Given the description of an element on the screen output the (x, y) to click on. 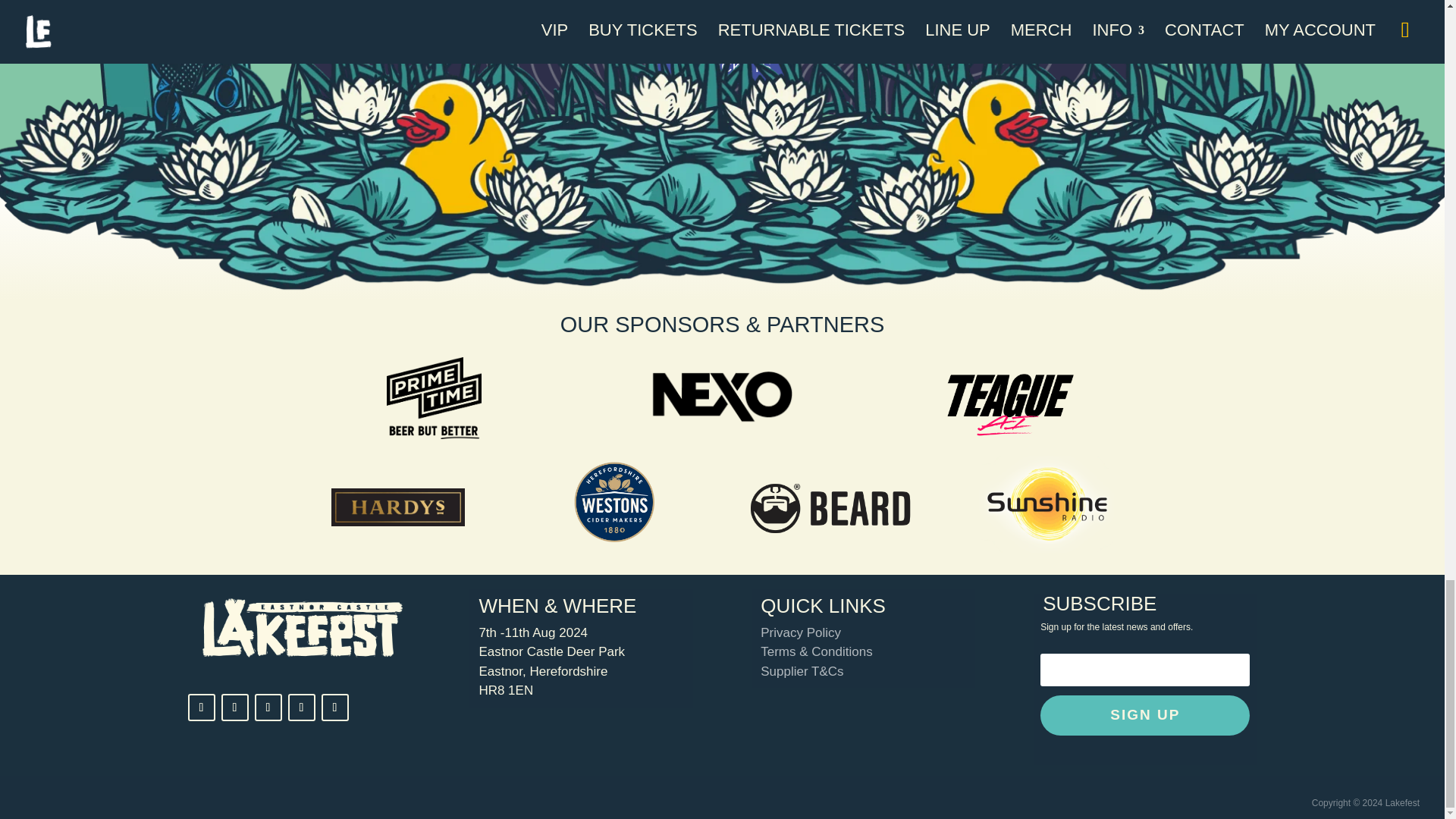
NEXO (721, 396)
BEARD-horizontal-logo (829, 508)
Teague AI (1010, 404)
5de7916629a49 (1045, 503)
Prime Time (434, 397)
Westons-Cider (613, 501)
Lakefest2023-logo-cream (298, 628)
Hardys Master Logo CMYK (397, 507)
Follow on Facebook (201, 707)
